Given the description of an element on the screen output the (x, y) to click on. 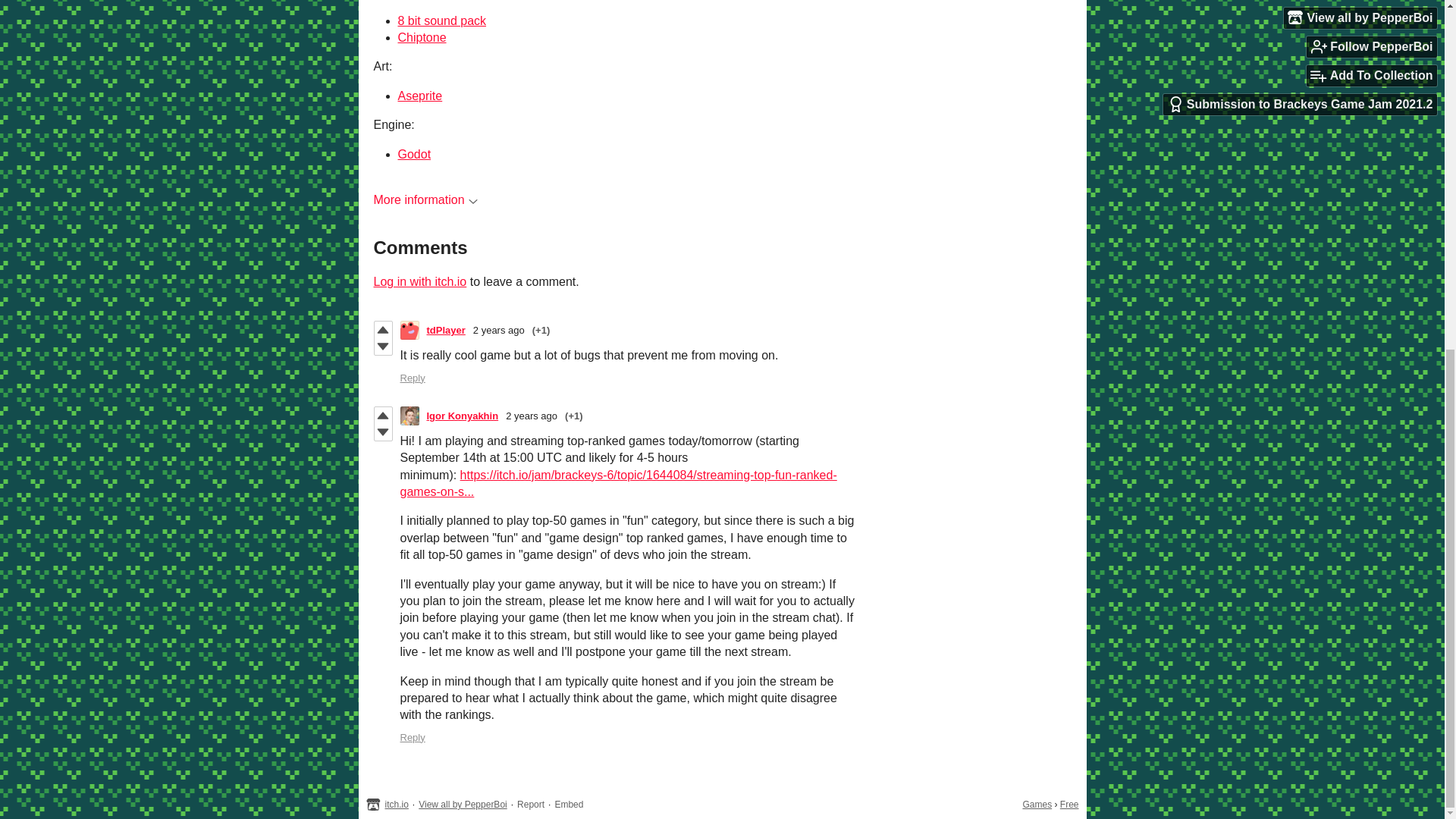
Games (1036, 804)
Embed (568, 804)
View all by PepperBoi (462, 804)
Igor Konyakhin (461, 415)
2021-09-13 22:57:36 (531, 415)
Vote down (382, 432)
tdPlayer (445, 329)
2 years ago (531, 415)
Vote down (382, 346)
Vote up (382, 329)
Godot (413, 154)
Free (1068, 804)
Vote up (382, 415)
Reply (412, 378)
Report (530, 804)
